Given the description of an element on the screen output the (x, y) to click on. 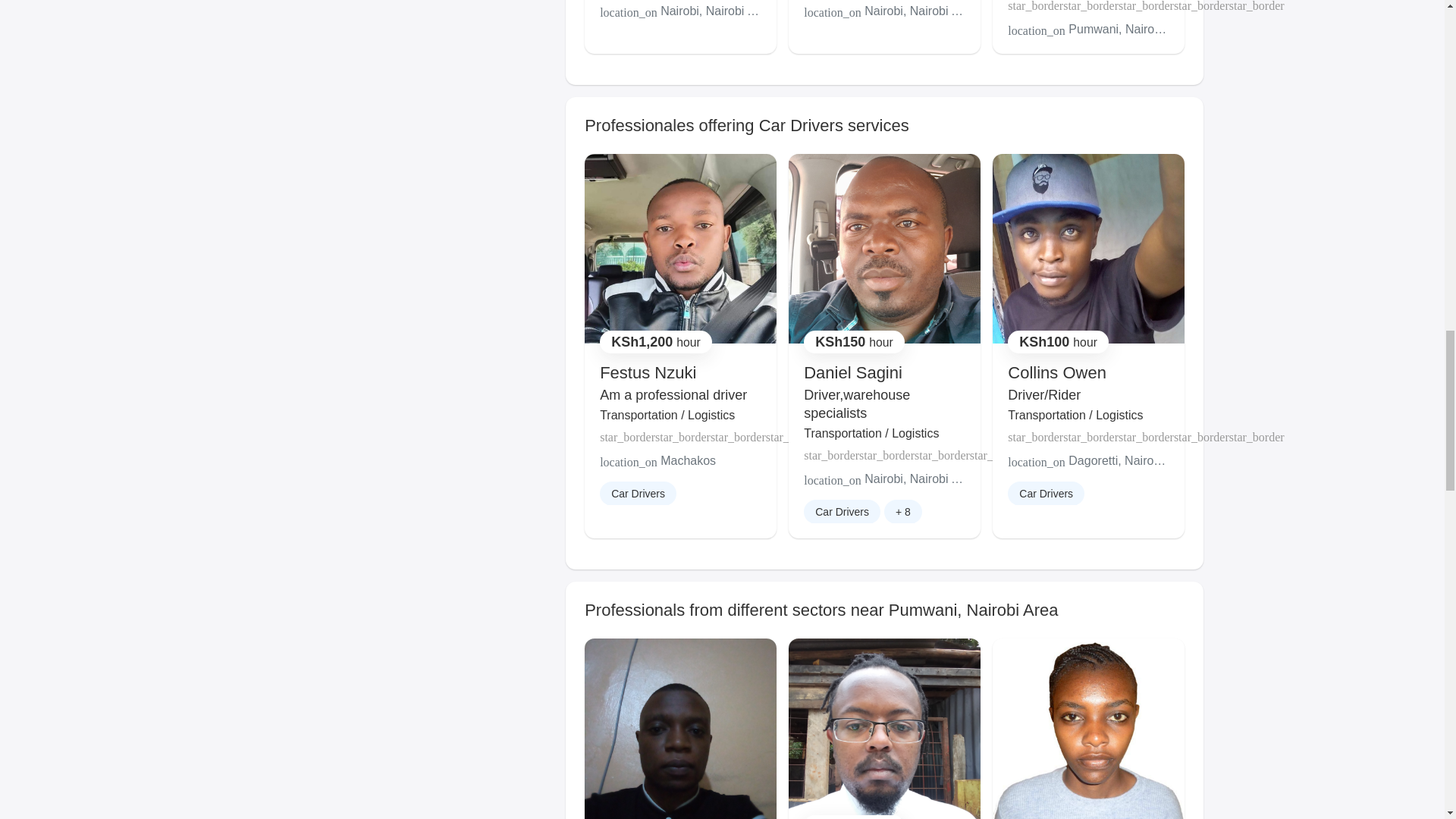
Festus Nzuki (647, 372)
Festus  Nzuki (647, 372)
Collins Owen (1056, 372)
Daniel Sagini (852, 372)
Daniel  Sagini  (852, 372)
Collins Owen (1056, 372)
